Given the description of an element on the screen output the (x, y) to click on. 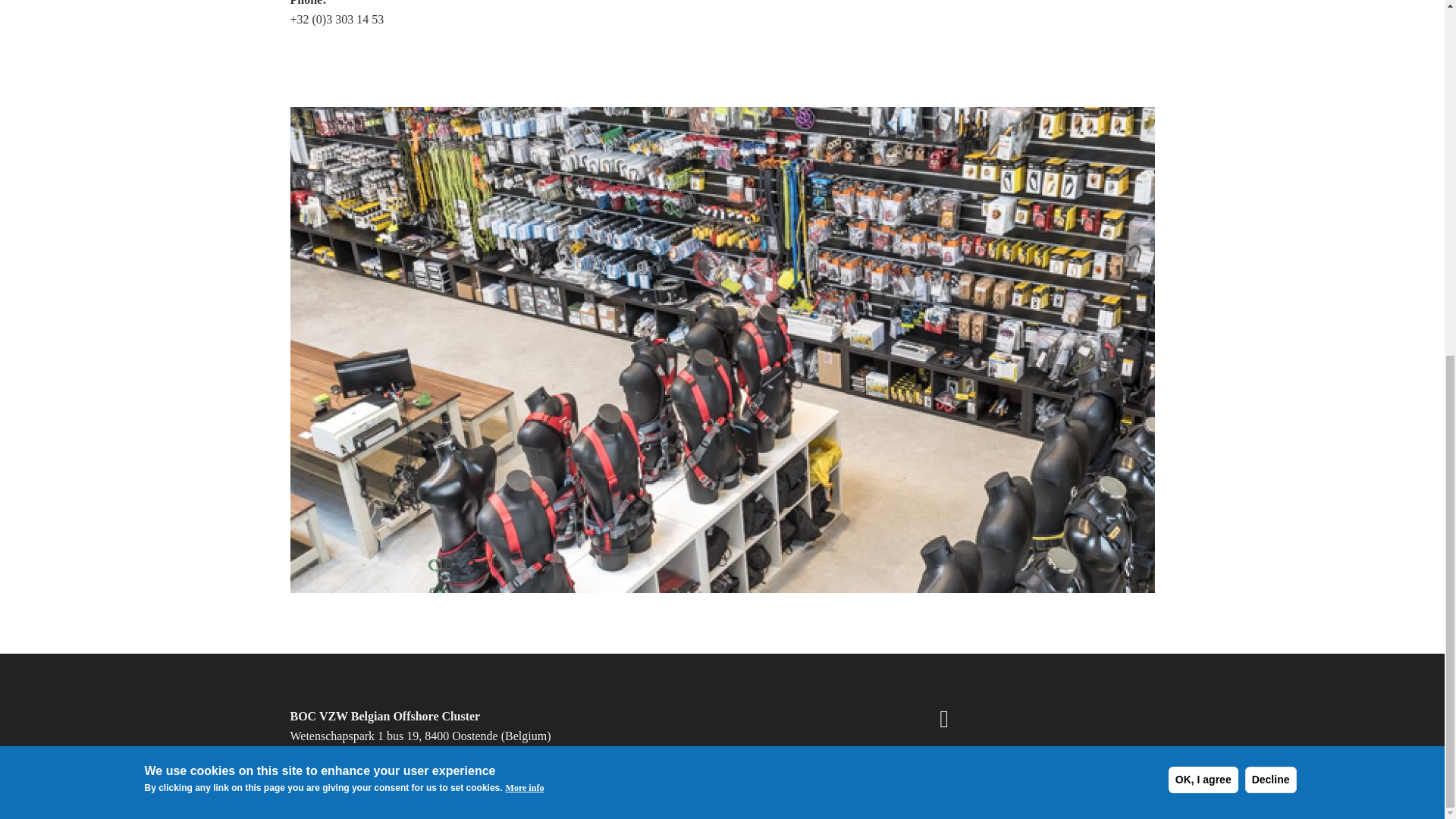
Decline (1270, 156)
OK, I agree (1204, 156)
More info (524, 165)
